Given the description of an element on the screen output the (x, y) to click on. 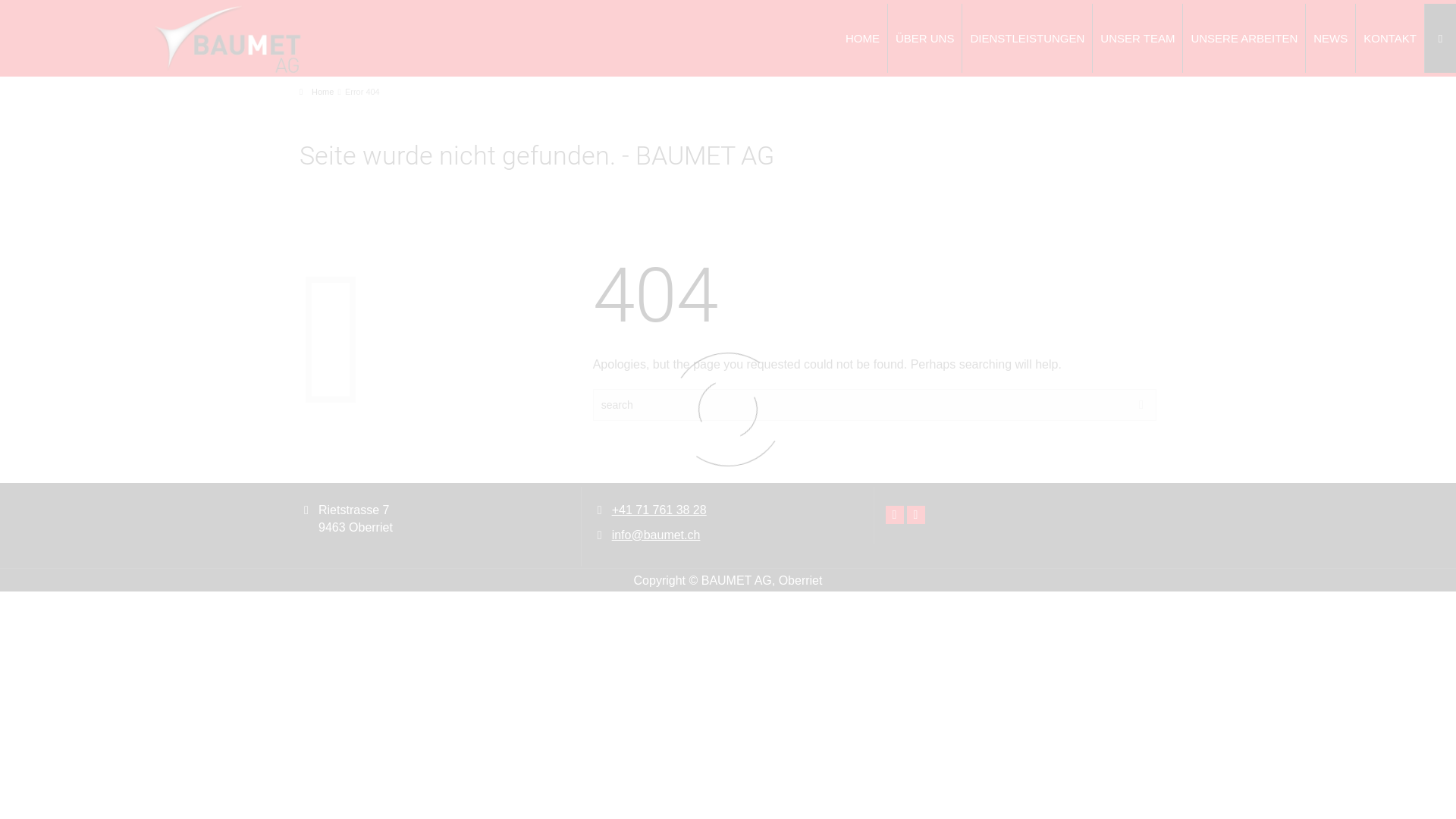
NEWS Element type: text (1330, 37)
DIENSTLEISTUNGEN Element type: text (1027, 37)
info@baumet.ch Element type: text (655, 534)
KONTAKT Element type: text (1389, 37)
UNSERE ARBEITEN Element type: text (1244, 37)
Instagram Element type: hover (915, 514)
Facebook Element type: hover (894, 514)
UNSER TEAM Element type: text (1137, 37)
Home Element type: text (316, 91)
+41 71 761 38 28 Element type: text (658, 509)
HOME Element type: text (862, 37)
BAUMET AG Element type: hover (227, 38)
